Given the description of an element on the screen output the (x, y) to click on. 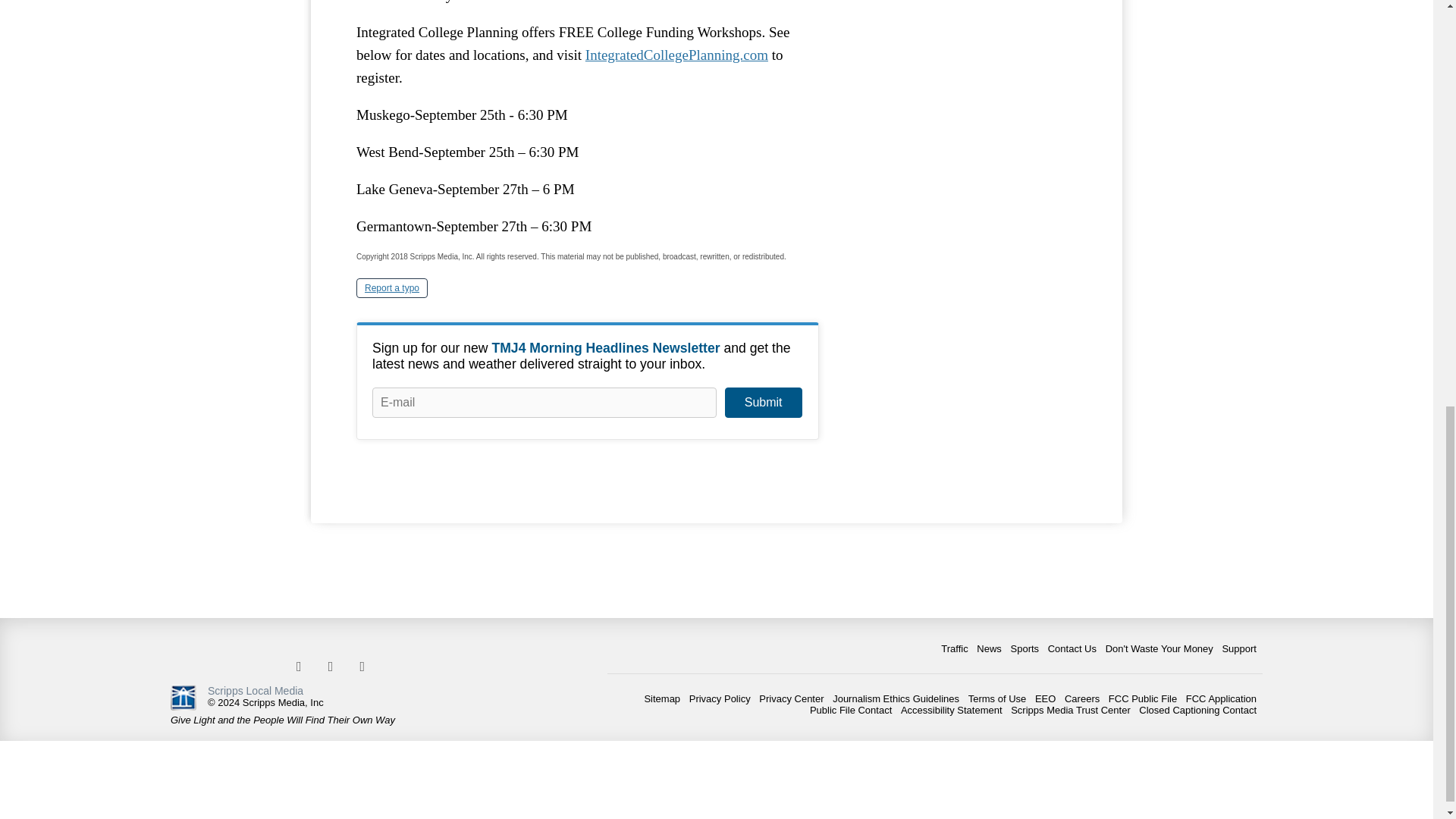
Submit (763, 402)
